Given the description of an element on the screen output the (x, y) to click on. 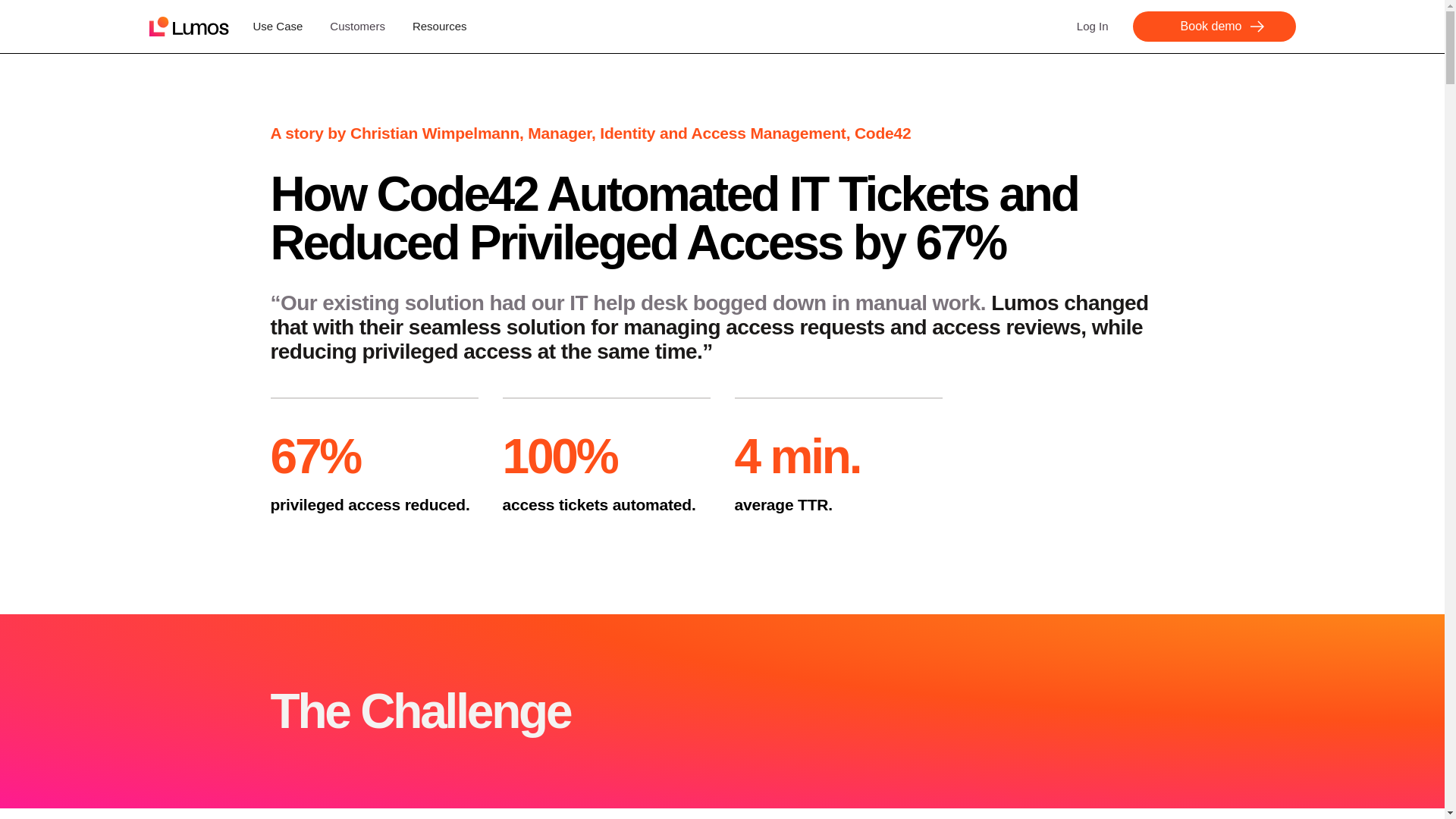
Book demo (1213, 26)
Lumos Home (188, 26)
Customers (357, 26)
